Given the description of an element on the screen output the (x, y) to click on. 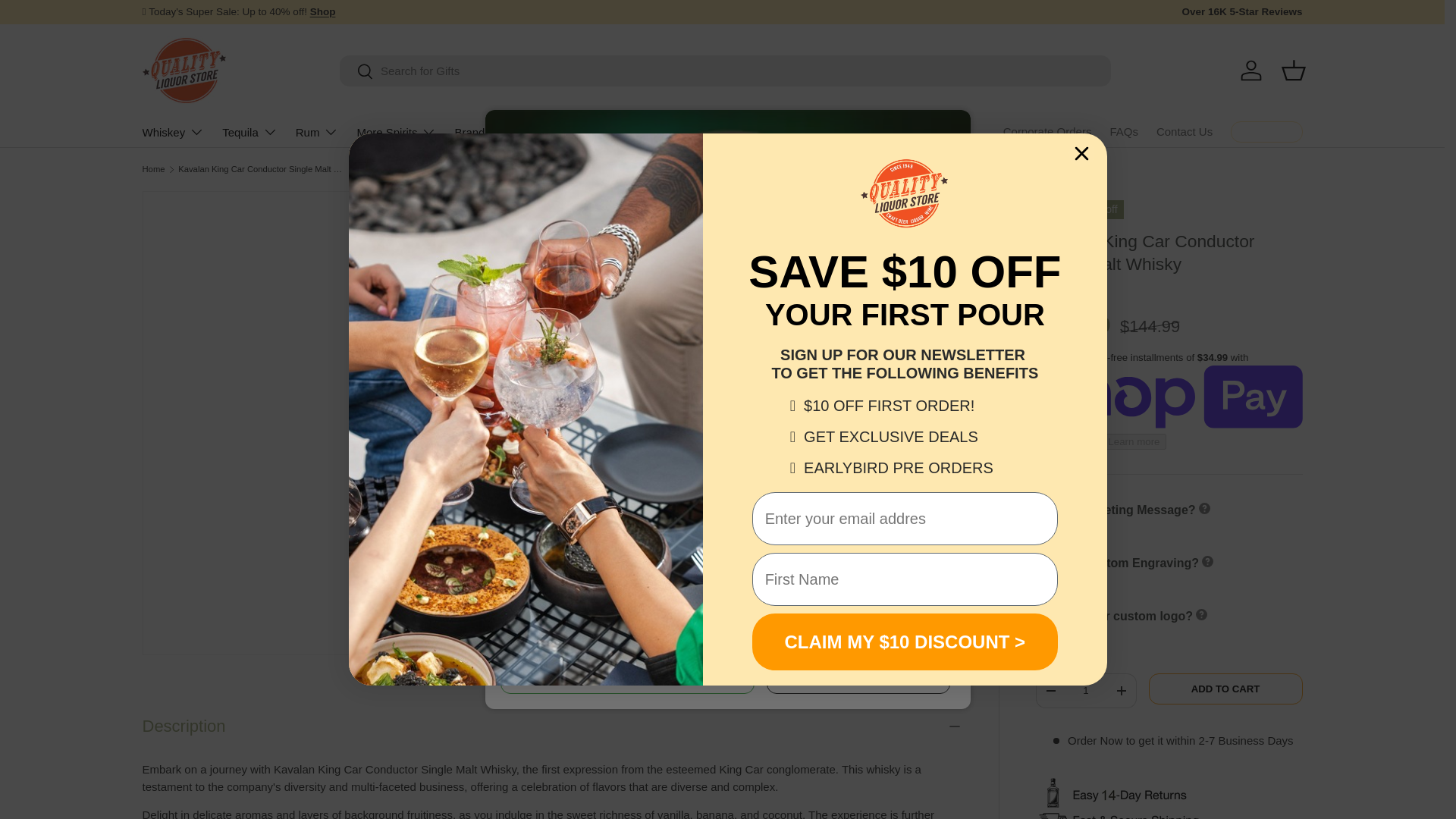
Log in (1251, 70)
Whiskey (173, 132)
SKIP TO CONTENT (68, 21)
Search (356, 72)
More Spirits (395, 132)
Over 16K 5-Star Reviews (1240, 11)
Shop (323, 11)
SALE (323, 11)
1 (1085, 690)
Tequila (250, 132)
Basket (1293, 70)
Rum (317, 132)
